Given the description of an element on the screen output the (x, y) to click on. 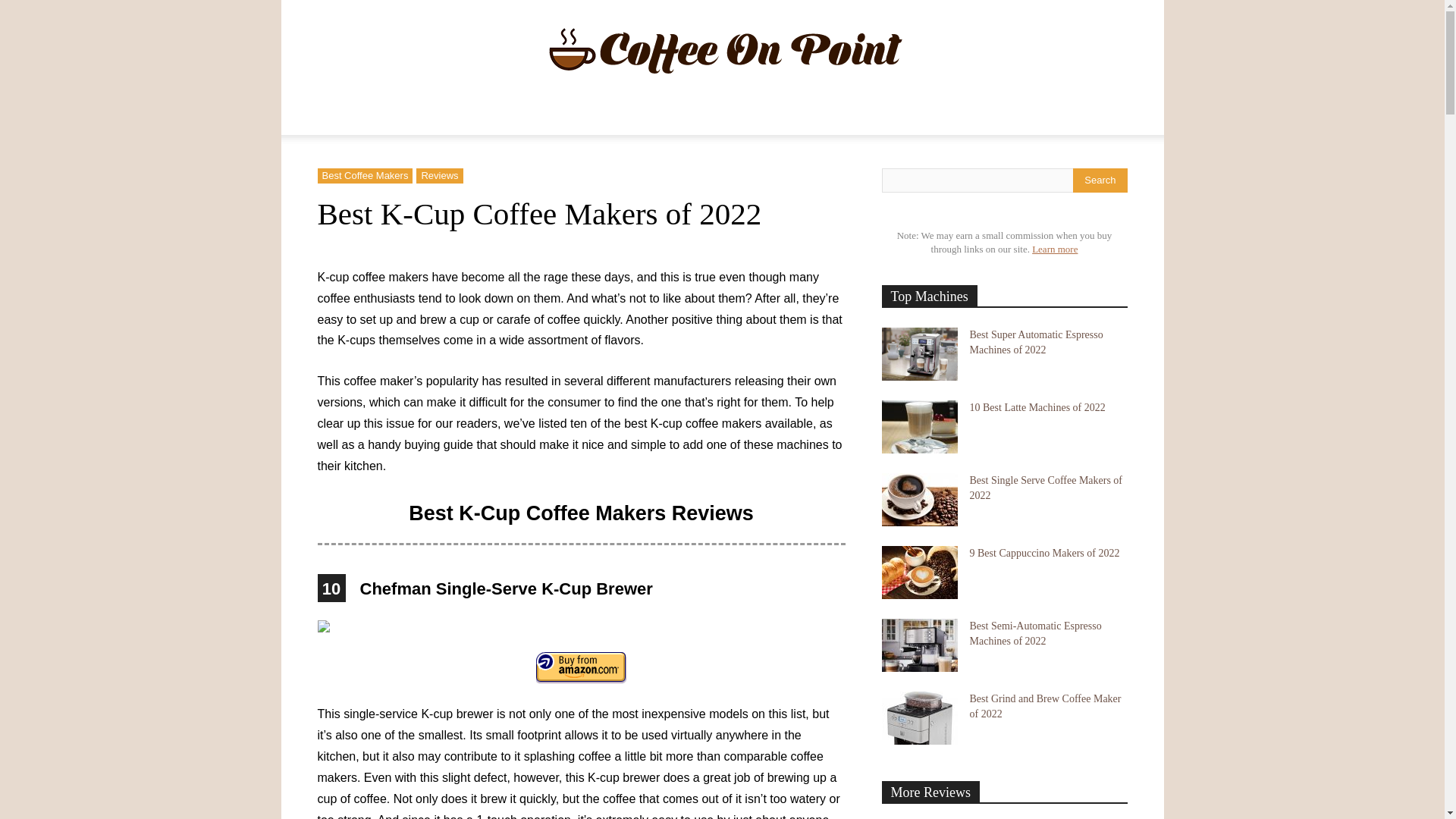
Search (1099, 180)
Nespresso Machines (704, 116)
Coffee on Point (722, 50)
Brands (977, 116)
Misc (922, 116)
Search (1085, 177)
Blog (1030, 116)
Coffee (800, 116)
Grinders (863, 116)
Best Coffee Makers (364, 175)
